Given the description of an element on the screen output the (x, y) to click on. 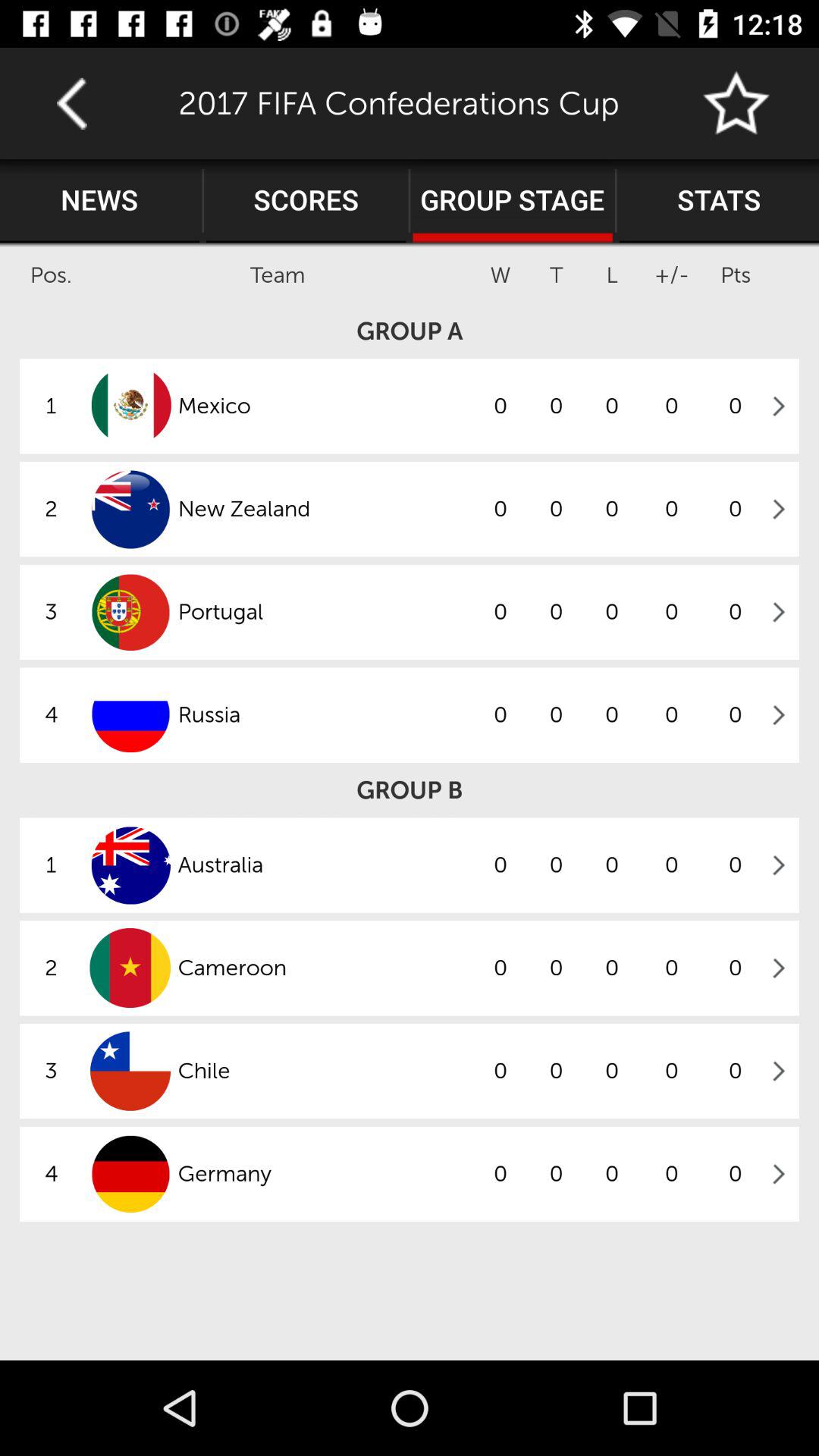
launch item to the left of the 0 icon (325, 967)
